Given the description of an element on the screen output the (x, y) to click on. 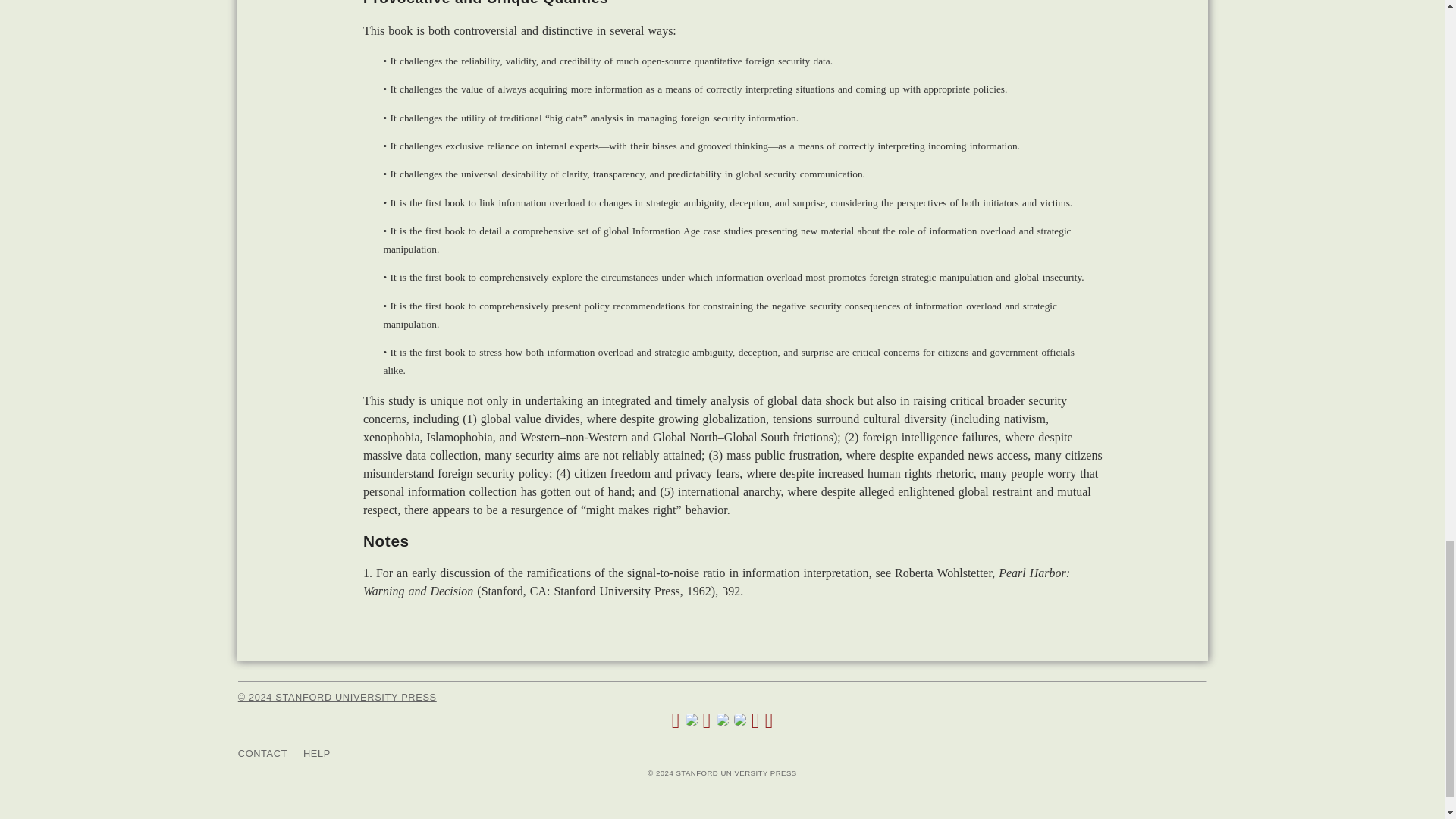
HELP (316, 753)
CONTACT (262, 753)
